Given the description of an element on the screen output the (x, y) to click on. 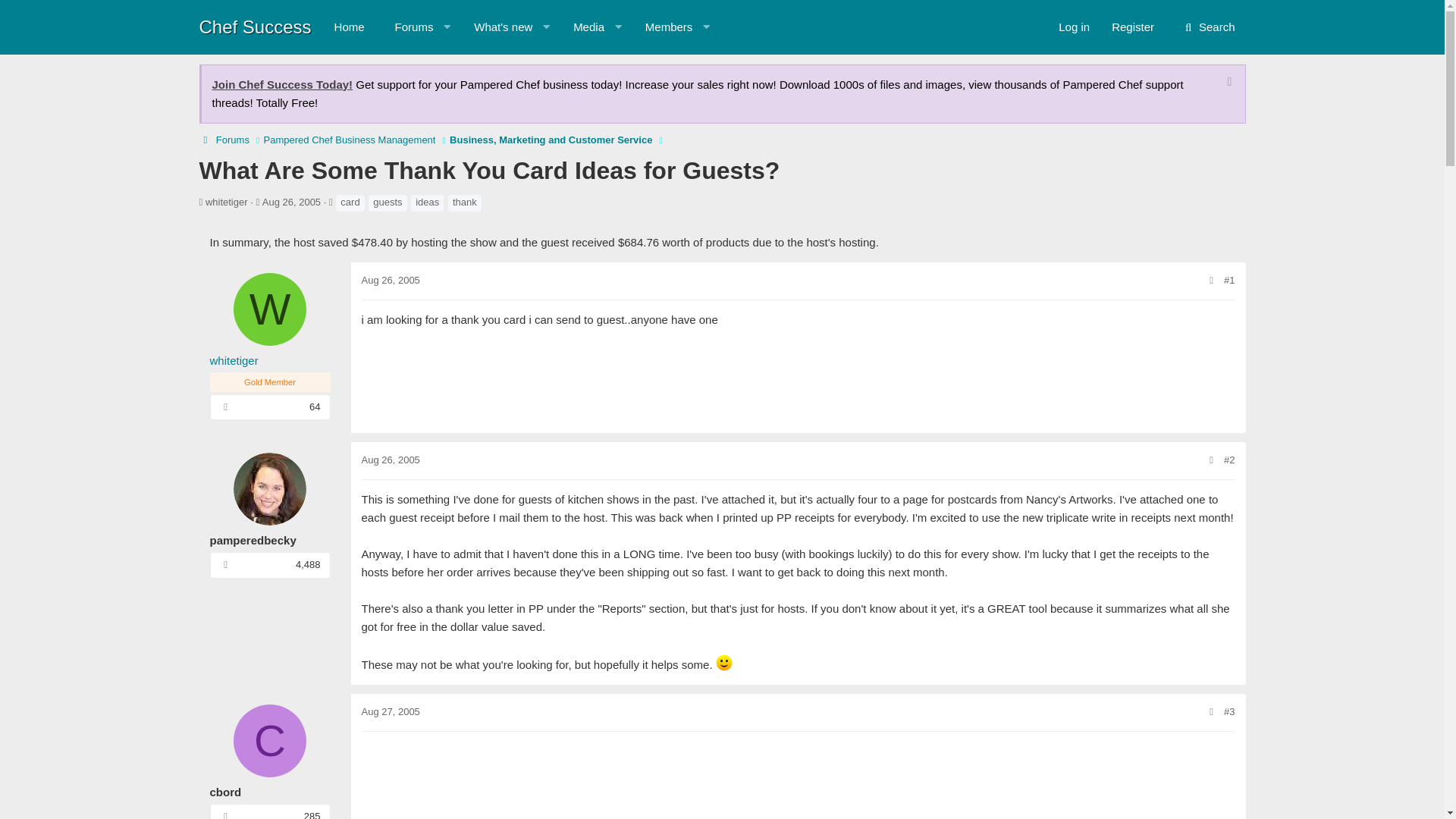
Aug 27, 2005 at 5:19 AM (390, 711)
Search (1208, 26)
Media (518, 26)
Home (581, 26)
Messages (349, 26)
Aug 26, 2005 at 10:17 PM (225, 406)
Messages (390, 279)
Register (225, 564)
Search (1132, 26)
